Given the description of an element on the screen output the (x, y) to click on. 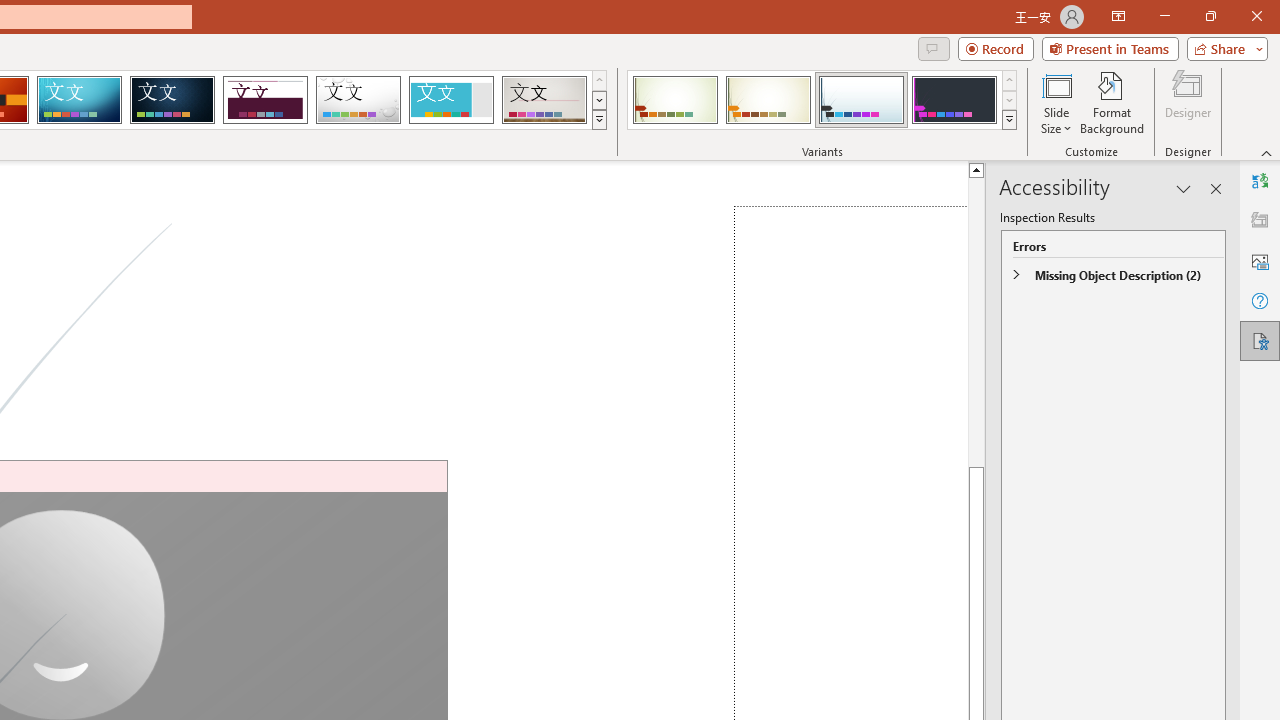
Gallery (544, 100)
Frame (450, 100)
Translator (1260, 180)
Droplet (358, 100)
Themes (598, 120)
Dividend (265, 100)
Slide Size (1056, 102)
Wisp Variant 3 (861, 100)
